Given the description of an element on the screen output the (x, y) to click on. 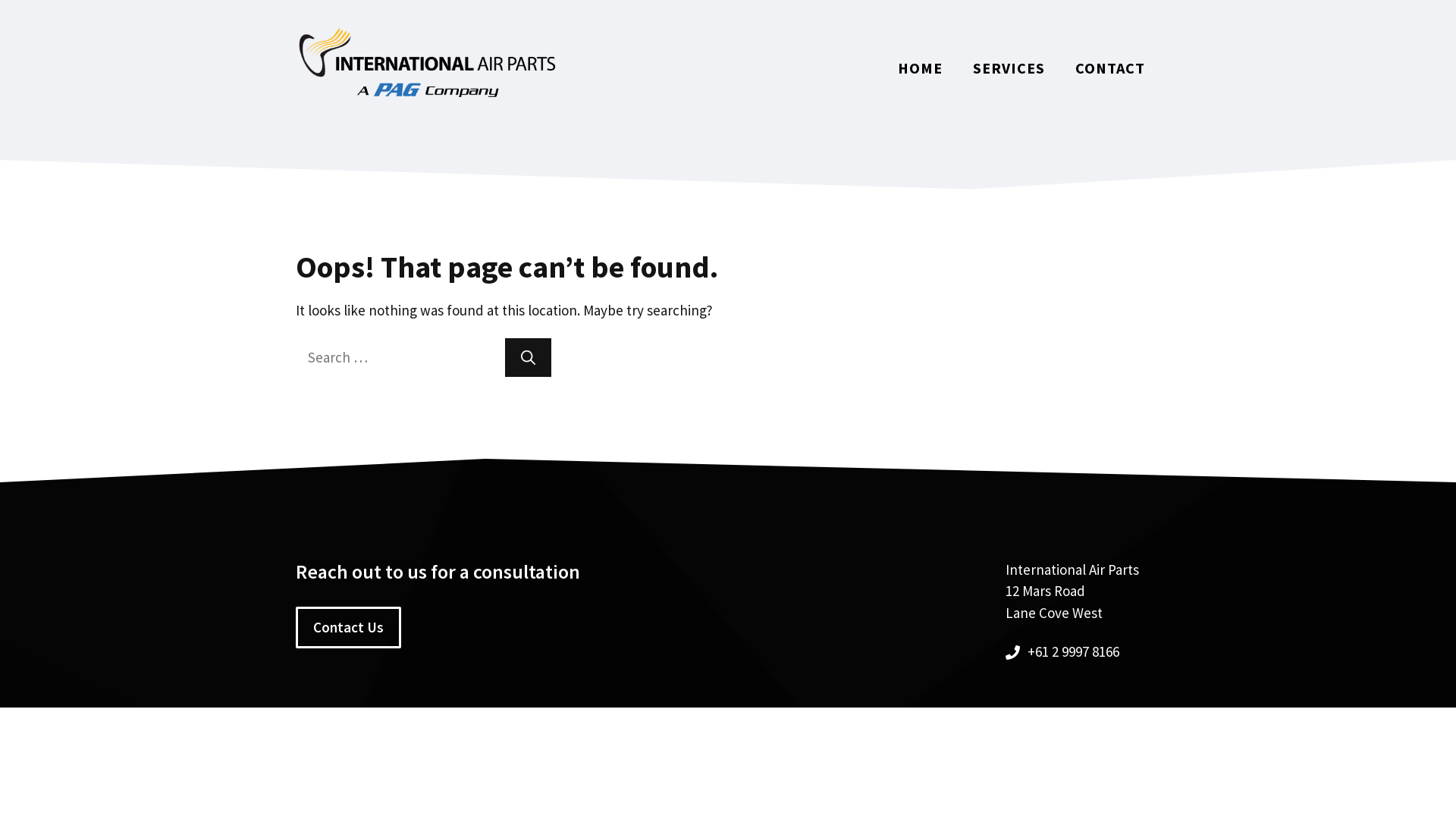
CONTACT Element type: text (1110, 68)
Search for: Element type: hover (398, 357)
HOME Element type: text (919, 68)
Contact Us Element type: text (348, 627)
+61 2 9997 8166 Element type: text (1072, 651)
SERVICES Element type: text (1008, 68)
